Given the description of an element on the screen output the (x, y) to click on. 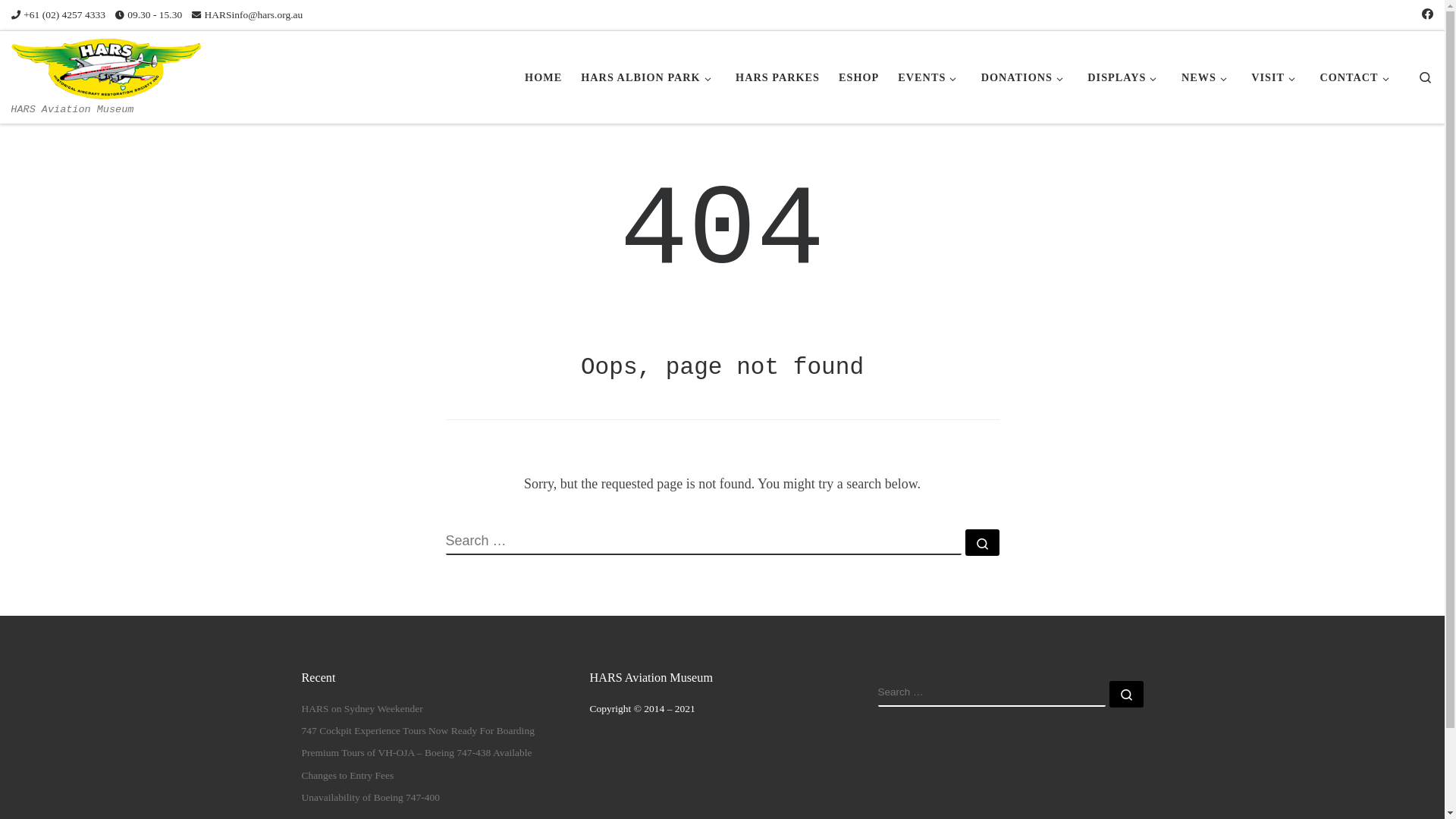
ESHOP Element type: text (859, 77)
DONATIONS Element type: text (1024, 77)
DISPLAYS Element type: text (1124, 77)
CONTACT Element type: text (1356, 77)
HARS ALBION PARK Element type: text (648, 77)
Search Element type: text (1424, 77)
HARSinfo@hars.org.au Element type: text (246, 15)
HOME Element type: text (543, 77)
747 Cockpit Experience Tours Now Ready For Boarding Element type: text (417, 731)
+61 (02) 4257 4333 Element type: text (58, 15)
EVENTS Element type: text (929, 77)
HARS on Sydney Weekender Element type: text (362, 709)
Skip to content Element type: text (57, 20)
HARS PARKES Element type: text (777, 77)
Unavailability of Boeing 747-400 Element type: text (370, 798)
Follow me on Facebook Element type: hover (1427, 14)
VISIT Element type: text (1275, 77)
Changes to Entry Fees Element type: text (347, 776)
NEWS Element type: text (1206, 77)
